Given the description of an element on the screen output the (x, y) to click on. 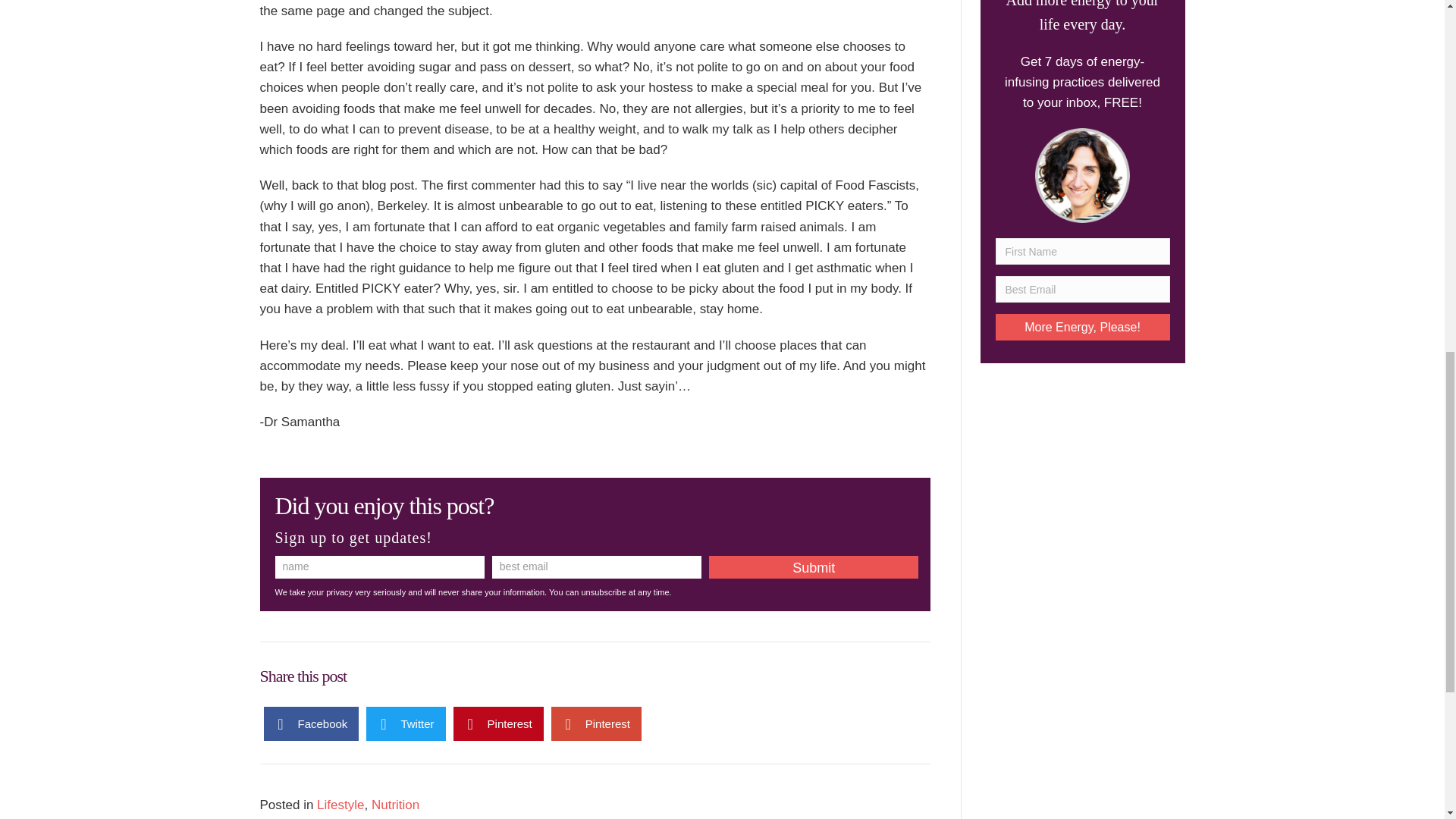
Pinterest (497, 723)
Twitter (405, 723)
Nutrition (395, 804)
Facebook (311, 723)
More Energy, Please! (1081, 326)
Submit (813, 567)
Lifestyle (340, 804)
Pinterest (596, 723)
